Given the description of an element on the screen output the (x, y) to click on. 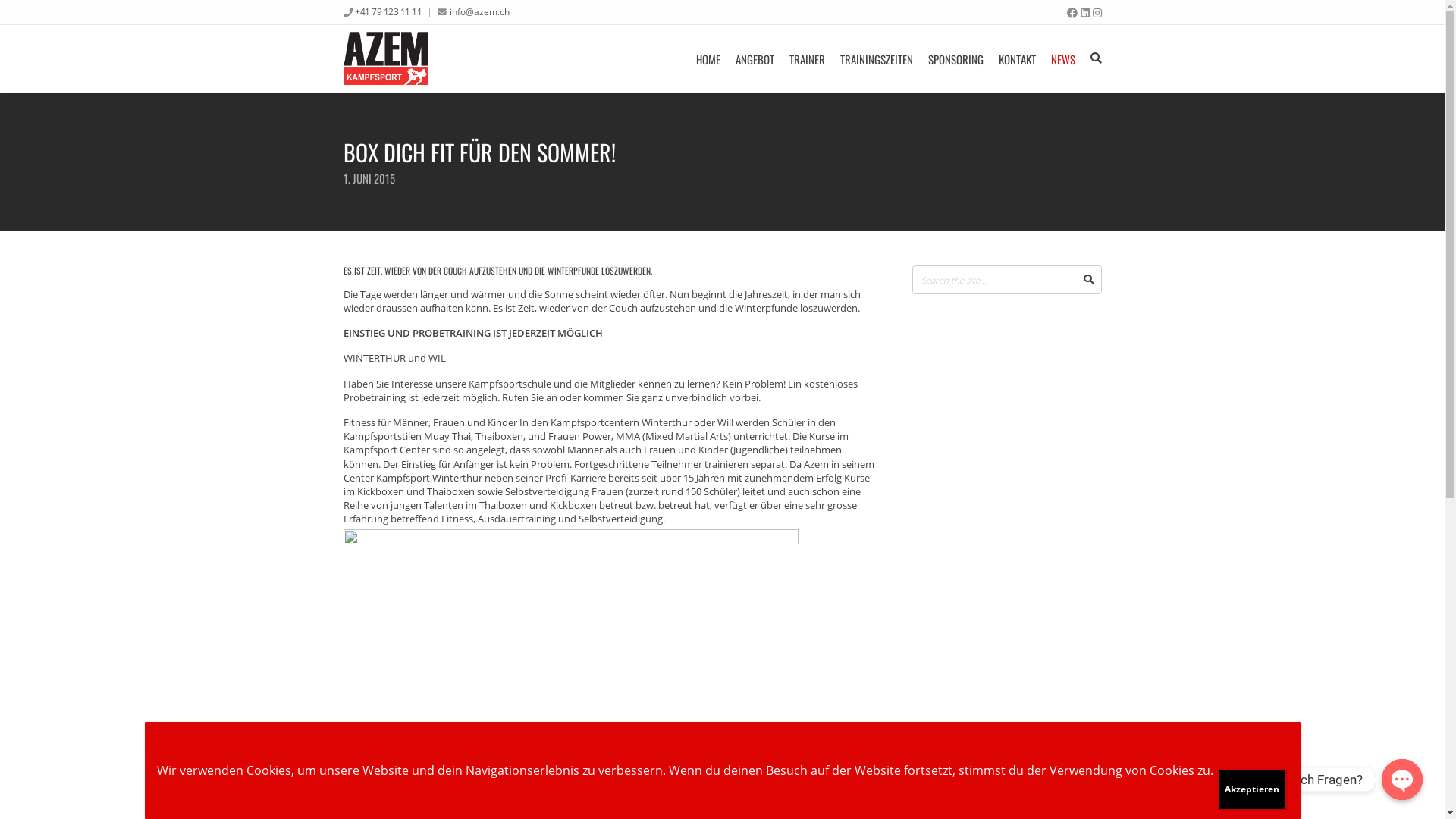
NEWS Element type: text (1062, 59)
Facebook Element type: hover (1071, 12)
SPONSORING Element type: text (955, 59)
info@azem.ch Element type: text (479, 11)
KONTAKT Element type: text (1016, 59)
LinkedIn Element type: hover (1083, 12)
Instagram Element type: hover (1096, 12)
+41 79 123 11 11 Element type: text (387, 11)
AZEM Kampfsport Element type: hover (384, 58)
TRAINER Element type: text (806, 59)
ANGEBOT Element type: text (754, 59)
Akzeptieren Element type: text (1250, 789)
HOME Element type: text (708, 59)
TRAININGSZEITEN Element type: text (876, 59)
